Given the description of an element on the screen output the (x, y) to click on. 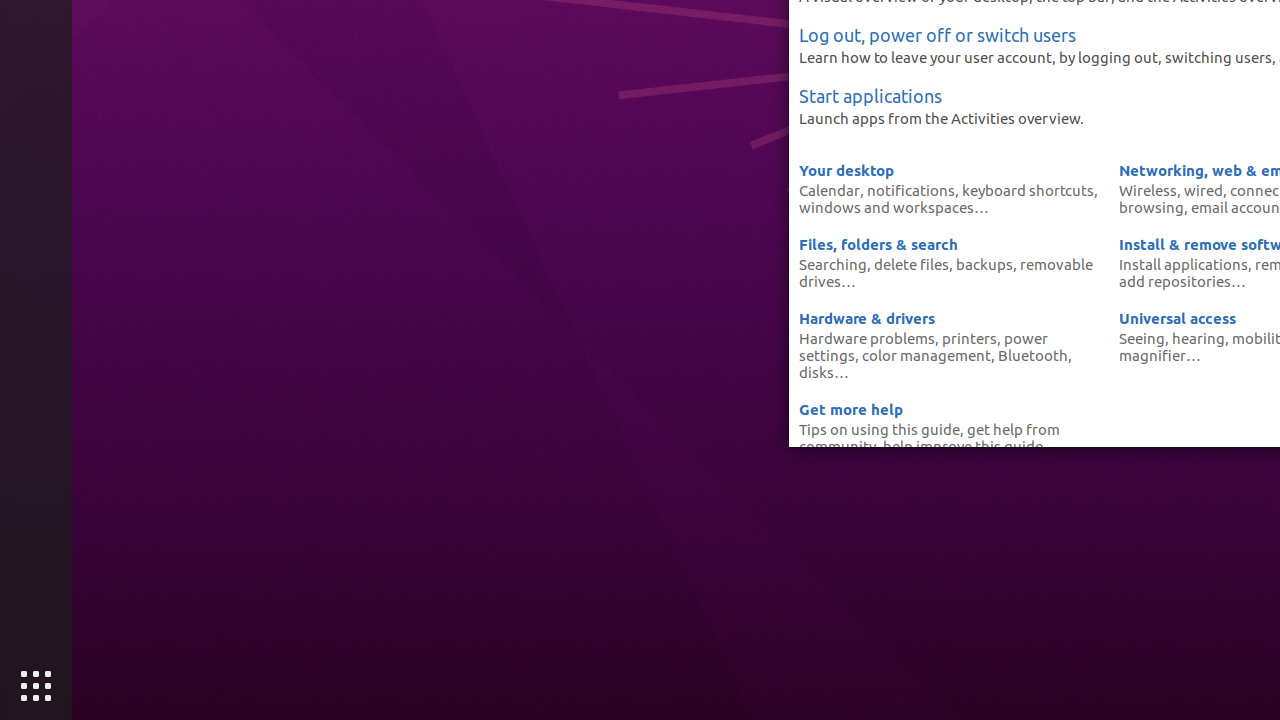
removable drives Element type: link (946, 272)
Wireless Element type: link (1148, 190)
Universal access Element type: link (1177, 318)
wired Element type: link (1203, 190)
Searching Element type: link (833, 264)
